Given the description of an element on the screen output the (x, y) to click on. 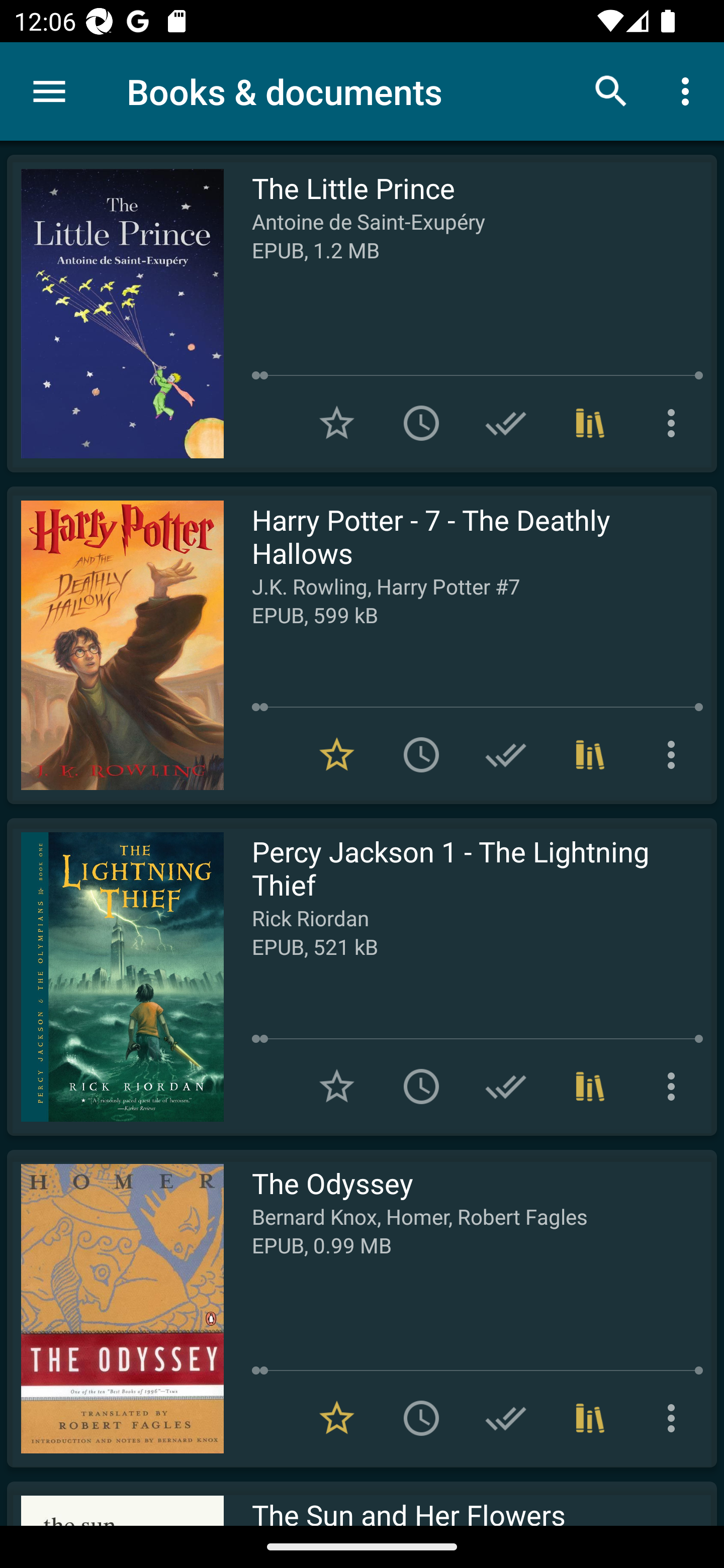
Menu (49, 91)
Search books & documents (611, 90)
More options (688, 90)
Read The Little Prince (115, 313)
Add to Favorites (336, 423)
Add to To read (421, 423)
Add to Have read (505, 423)
Collections (1) (590, 423)
More options (674, 423)
Read Harry Potter - 7 - The Deathly Hallows (115, 645)
Remove from Favorites (336, 753)
Add to To read (421, 753)
Add to Have read (505, 753)
Collections (1) (590, 753)
More options (674, 753)
Read Percy Jackson 1 - The Lightning Thief (115, 976)
Add to Favorites (336, 1086)
Add to To read (421, 1086)
Add to Have read (505, 1086)
Collections (1) (590, 1086)
More options (674, 1086)
Read The Odyssey (115, 1308)
Remove from Favorites (336, 1417)
Add to To read (421, 1417)
Add to Have read (505, 1417)
Collections (2) (590, 1417)
More options (674, 1417)
